Given the description of an element on the screen output the (x, y) to click on. 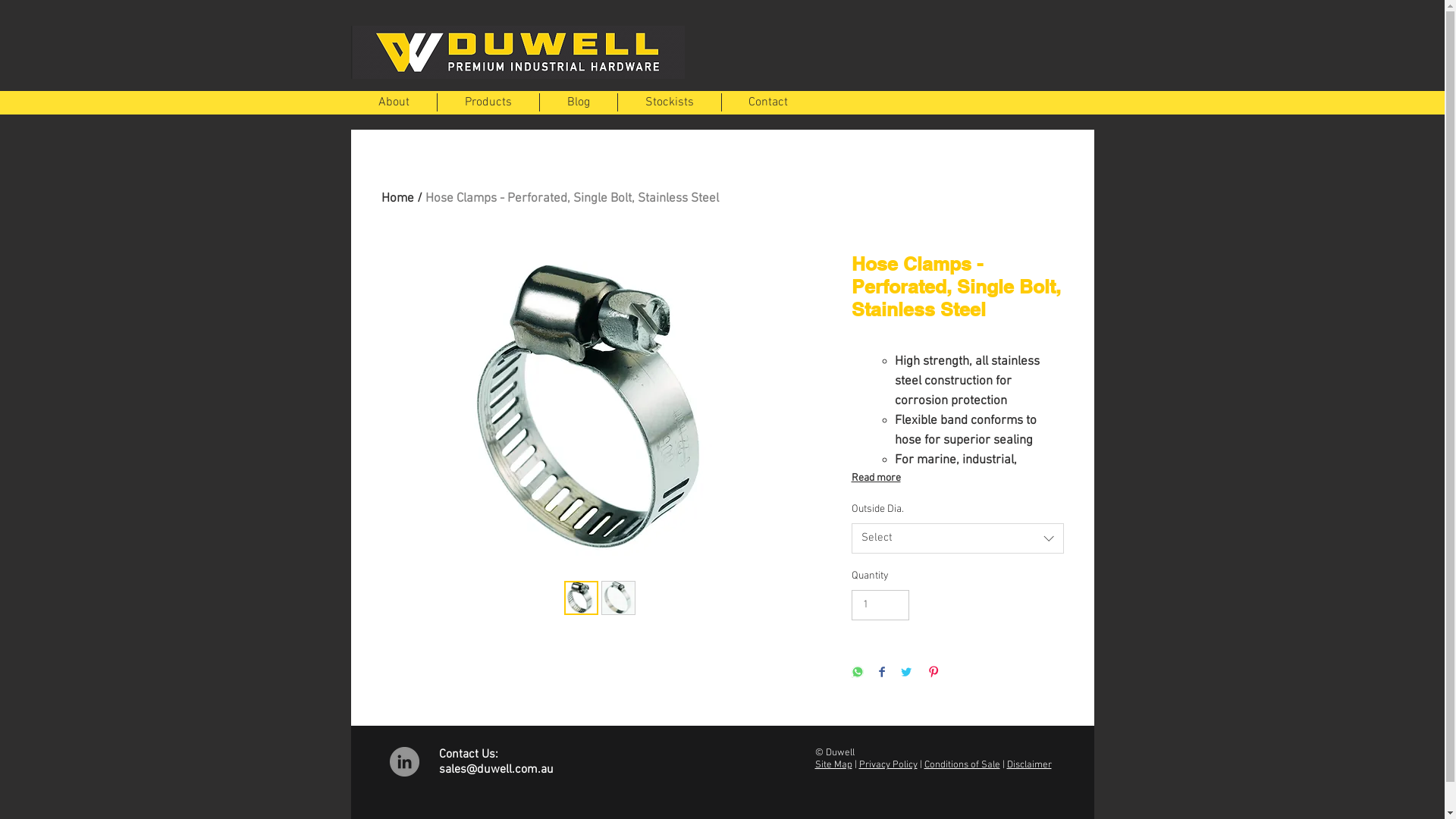
Site Search Element type: hover (905, 60)
Blog Element type: text (578, 102)
Read more Element type: text (956, 478)
About Element type: text (393, 102)
Site Map Element type: text (832, 765)
sales@duwell.com.au Element type: text (495, 769)
Disclaimer Element type: text (1029, 765)
Home Element type: text (396, 198)
Stockists Element type: text (668, 102)
Hose Clamps - Perforated, Single Bolt, Stainless Steel Element type: text (571, 198)
Contact Element type: text (768, 102)
Conditions of Sale Element type: text (961, 765)
Select Element type: text (956, 538)
Products Element type: text (487, 102)
Privacy Policy Element type: text (887, 765)
